Given the description of an element on the screen output the (x, y) to click on. 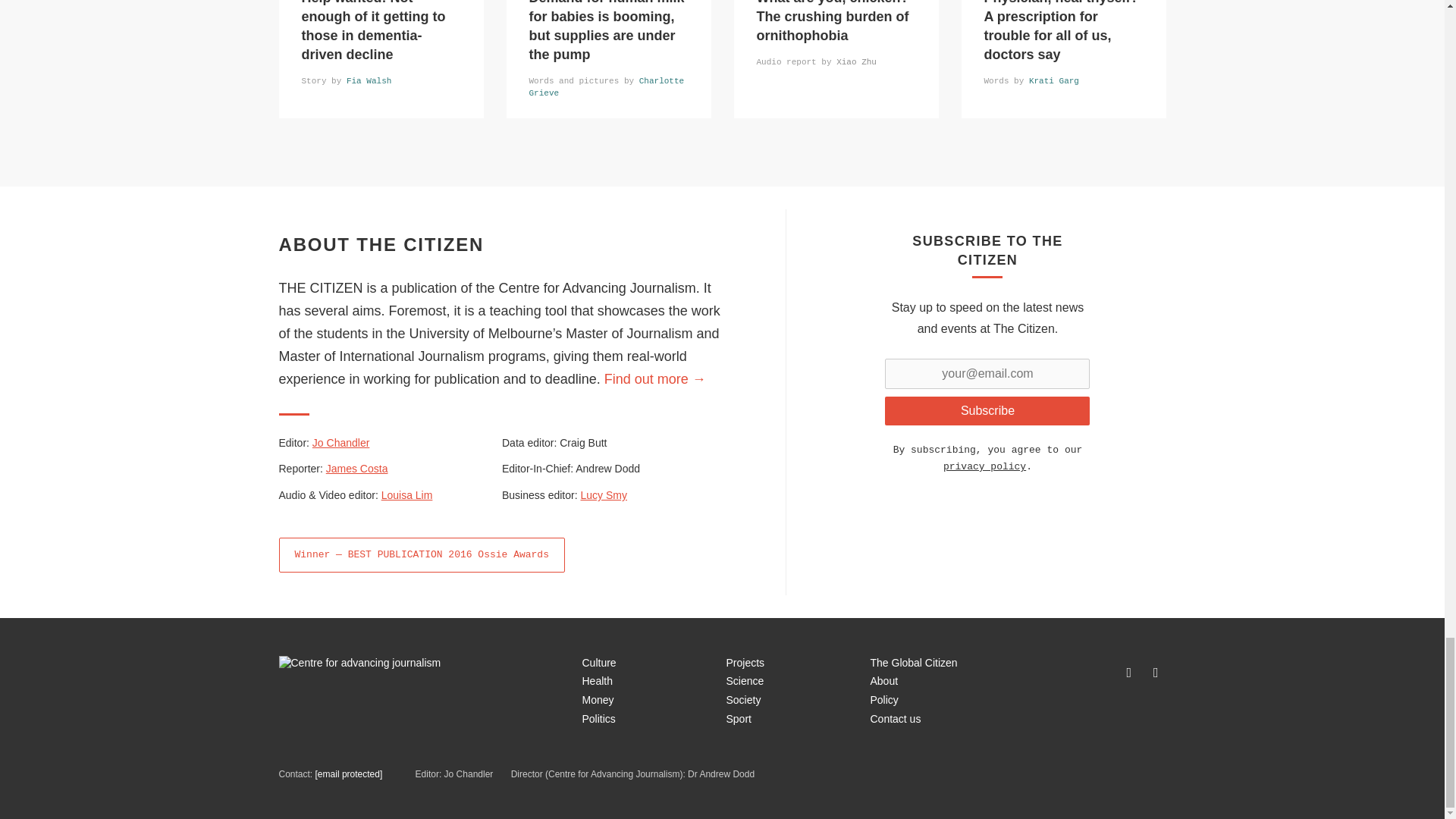
Subscribe (987, 410)
